Given the description of an element on the screen output the (x, y) to click on. 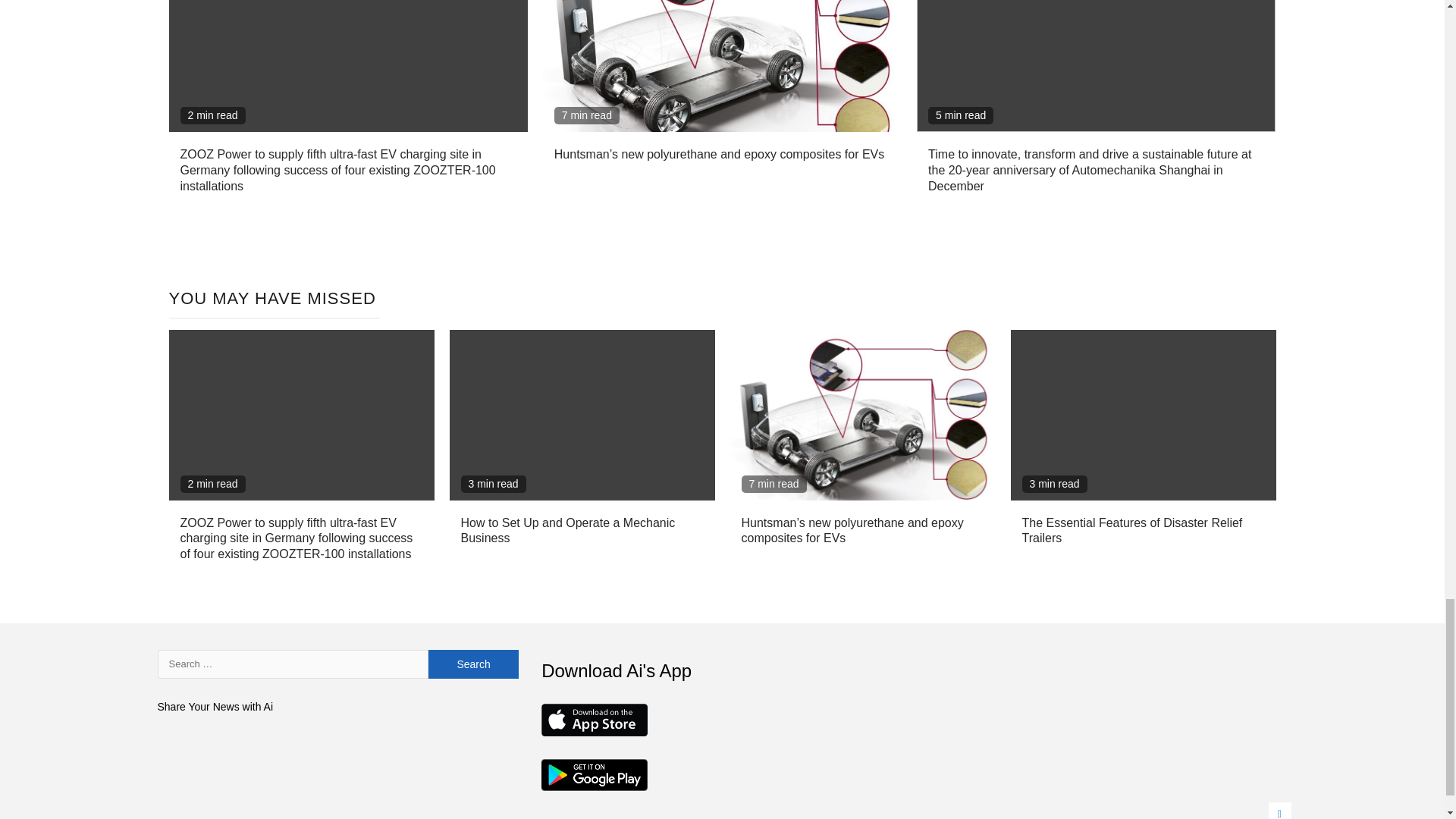
Search (473, 664)
Search (473, 664)
